Given the description of an element on the screen output the (x, y) to click on. 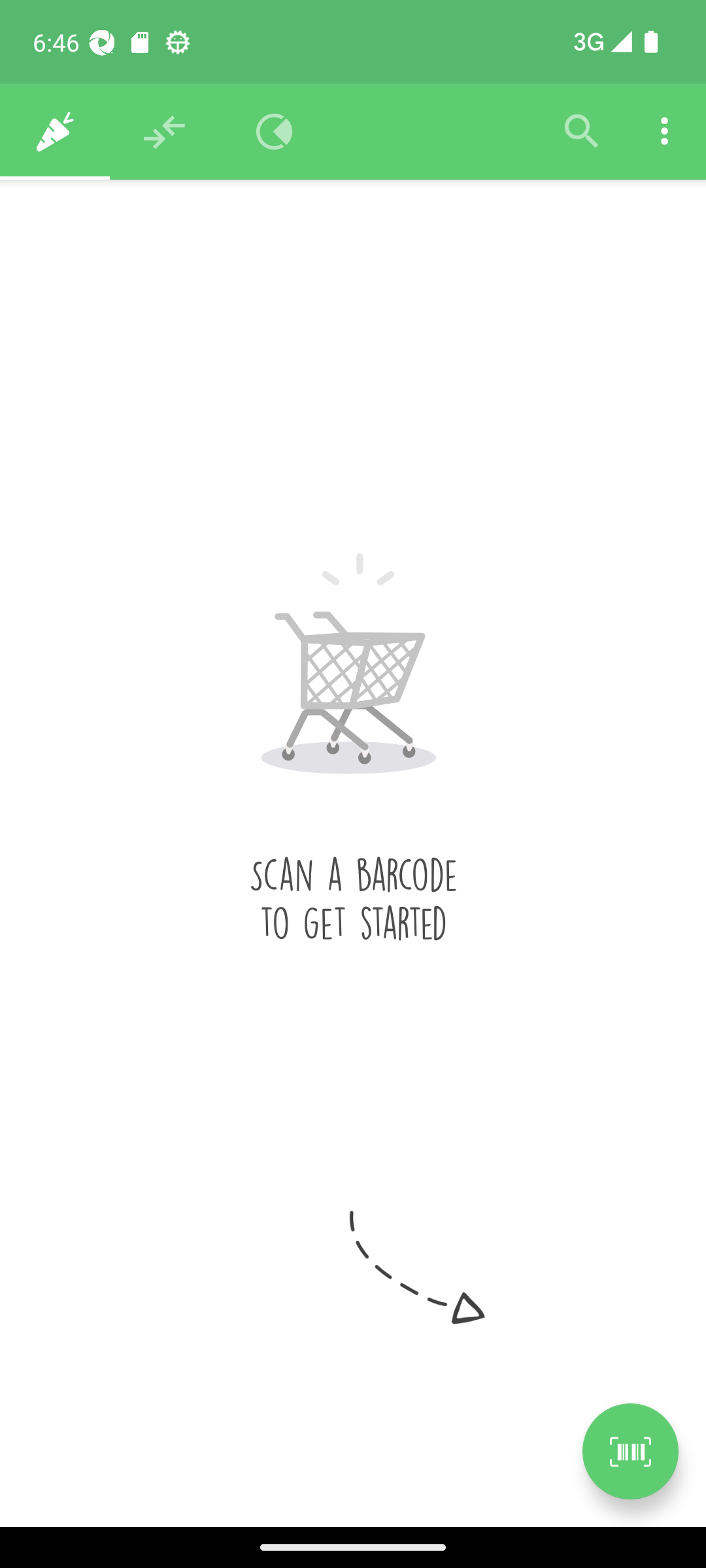
Recommendations (164, 131)
Overview (274, 131)
Filter (581, 131)
Settings (664, 131)
Scan a product (630, 1451)
